Given the description of an element on the screen output the (x, y) to click on. 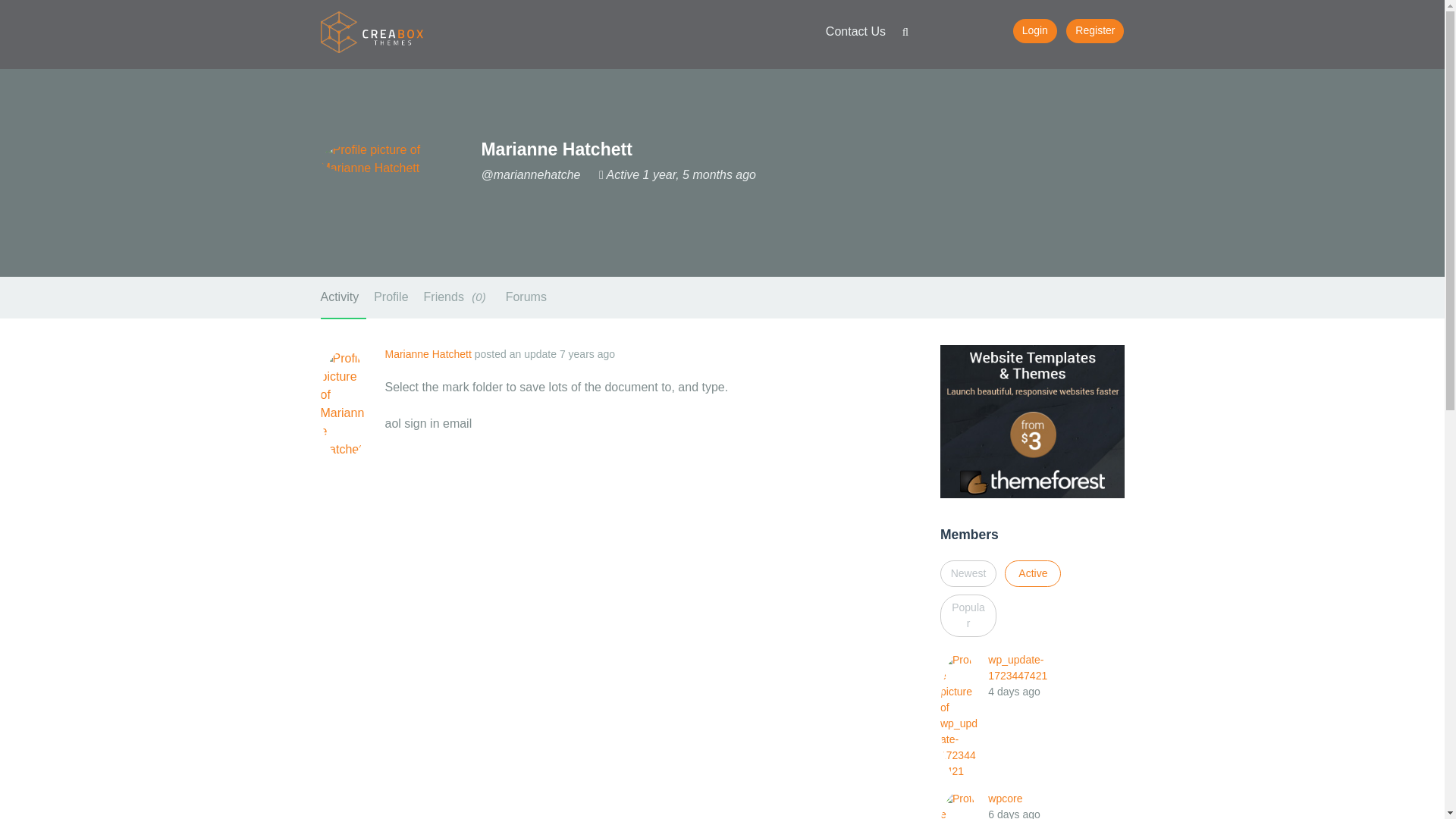
Themeforest (1032, 420)
Login (1035, 30)
Search (905, 34)
Login (1035, 30)
Active (1032, 573)
Contact Us (855, 31)
Activity (343, 297)
Friends 0 (456, 296)
Register (1094, 30)
CreaboxThemes Support (371, 31)
